Given the description of an element on the screen output the (x, y) to click on. 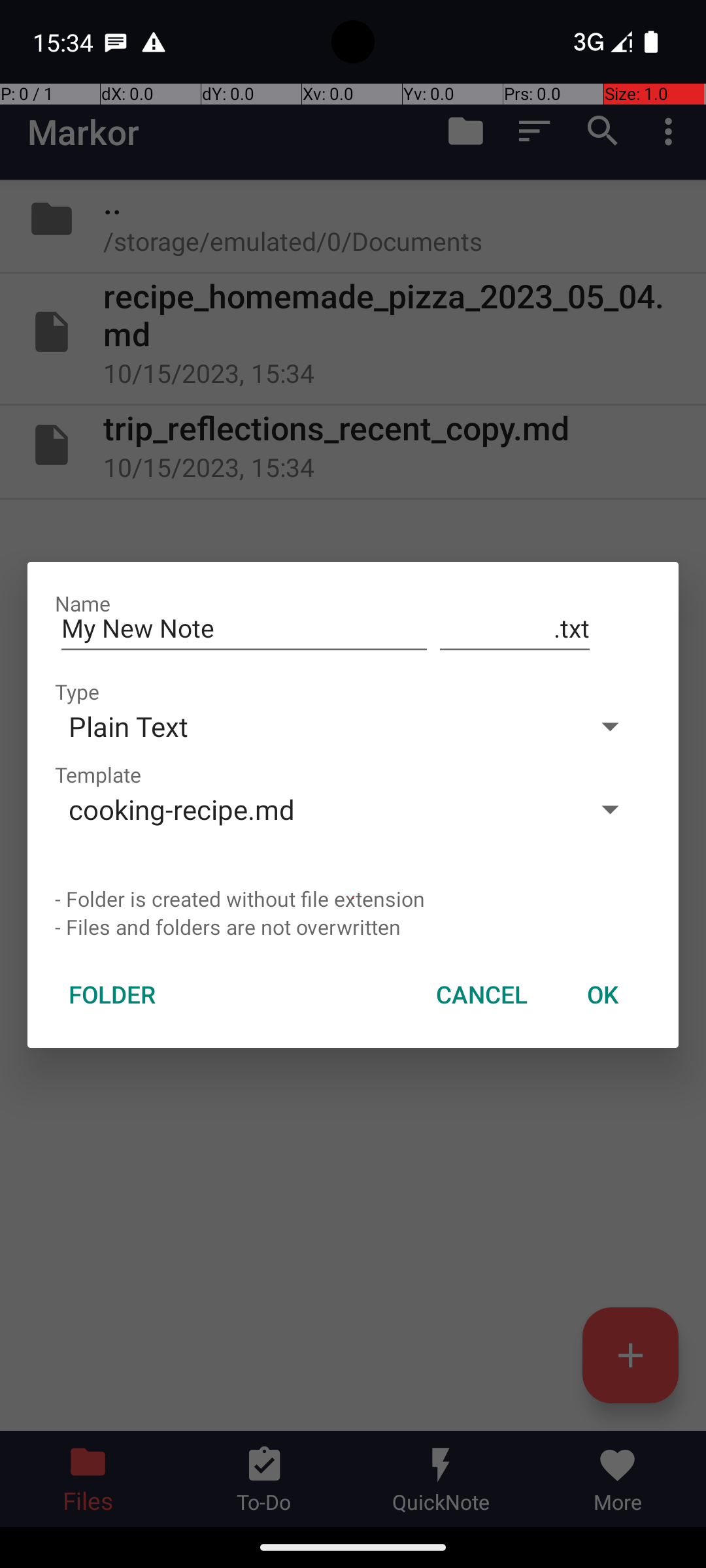
My New Note Element type: android.widget.EditText (243, 628)
.txt Element type: android.widget.EditText (514, 628)
Type Element type: android.widget.TextView (76, 691)
Template Element type: android.widget.TextView (97, 774)
- Folder is created without file extension Element type: android.widget.TextView (352, 898)
- Files and folders are not overwritten Element type: android.widget.TextView (352, 926)
FOLDER Element type: android.widget.Button (111, 993)
Plain Text Element type: android.widget.TextView (311, 725)
cooking-recipe.md Element type: android.widget.TextView (311, 808)
